Given the description of an element on the screen output the (x, y) to click on. 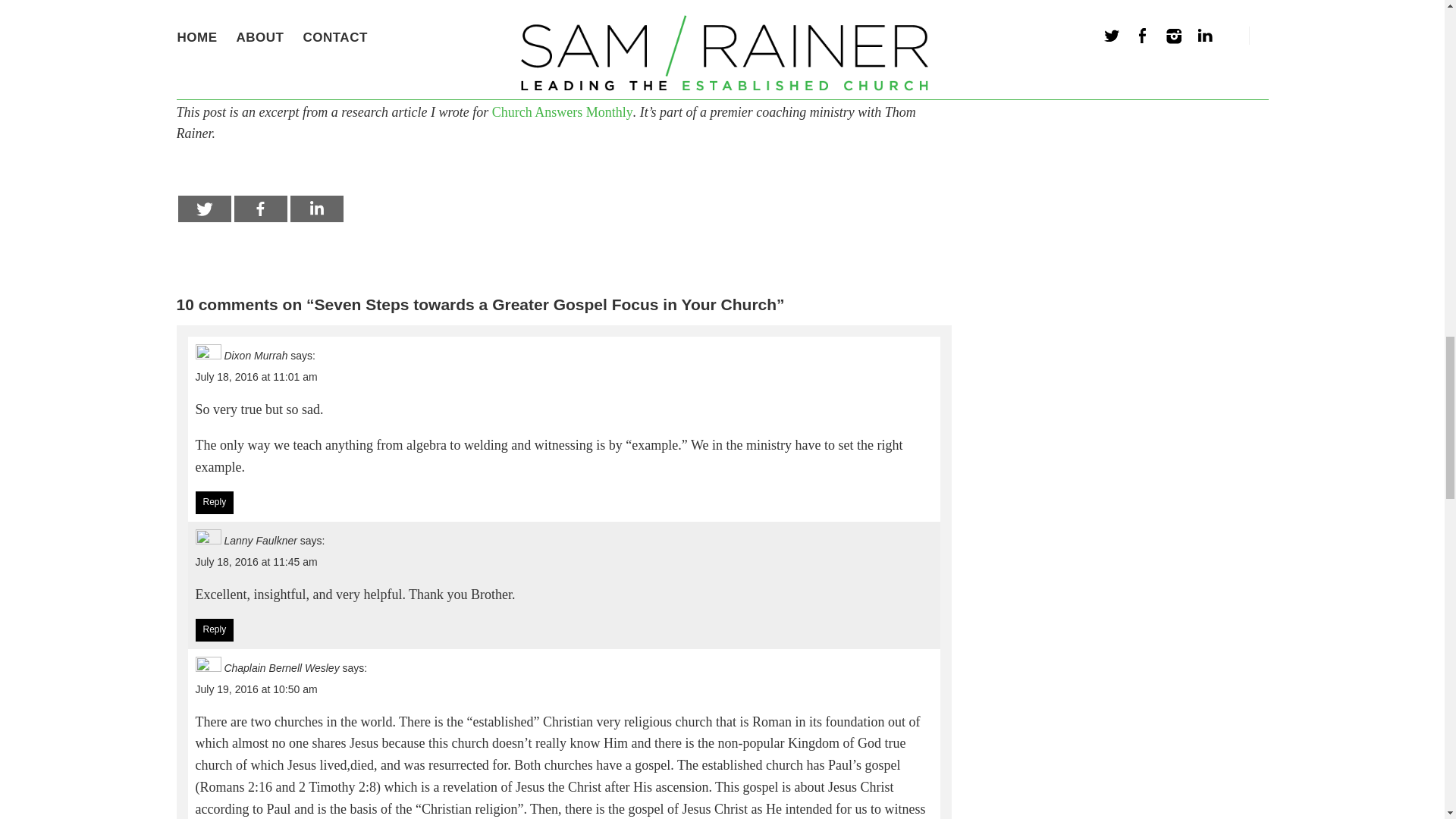
Chaplain Bernell Wesley (281, 667)
Twitter (203, 208)
Linkedin (315, 208)
Facebook (259, 208)
Lanny Faulkner (260, 540)
July 18, 2016 at 11:45 am (256, 562)
July 19, 2016 at 10:50 am (256, 689)
Reply (214, 630)
July 18, 2016 at 11:01 am (256, 377)
Reply (214, 502)
Church Answers Monthly (562, 111)
